Given the description of an element on the screen output the (x, y) to click on. 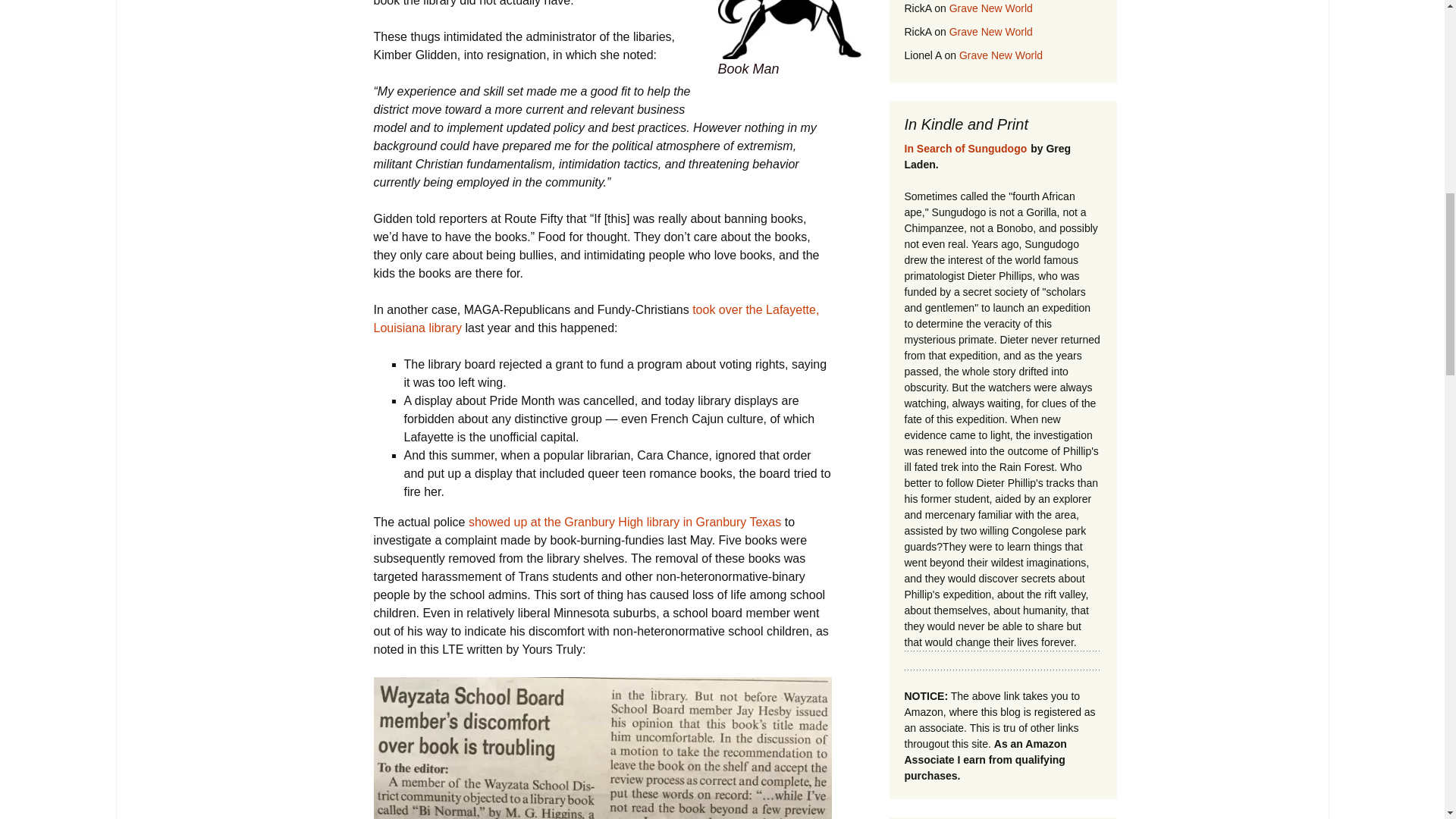
took over the Lafayette, Louisiana library (595, 318)
showed up at the Granbury High library in Granbury Texas (624, 521)
